Given the description of an element on the screen output the (x, y) to click on. 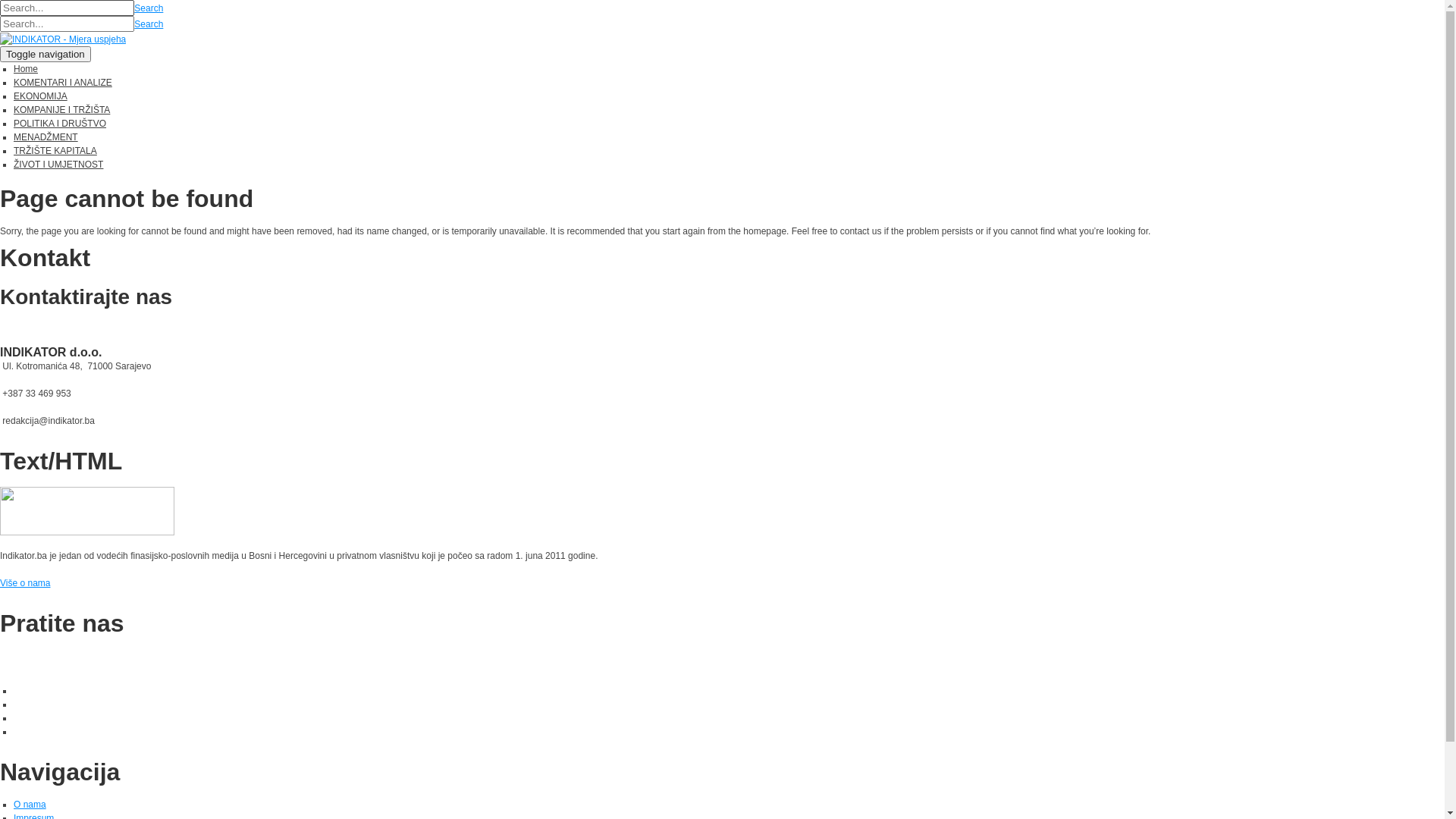
Home Element type: text (25, 68)
Search Element type: text (148, 23)
Clear search text Element type: hover (120, 43)
KOMENTARI I ANALIZE Element type: text (62, 82)
Toggle navigation Element type: text (45, 54)
INDIKATOR - Mjera uspjeha Element type: hover (62, 38)
Search Element type: text (148, 8)
Clear search text Element type: hover (120, 27)
EKONOMIJA Element type: text (40, 96)
O nama Element type: text (29, 804)
